Given the description of an element on the screen output the (x, y) to click on. 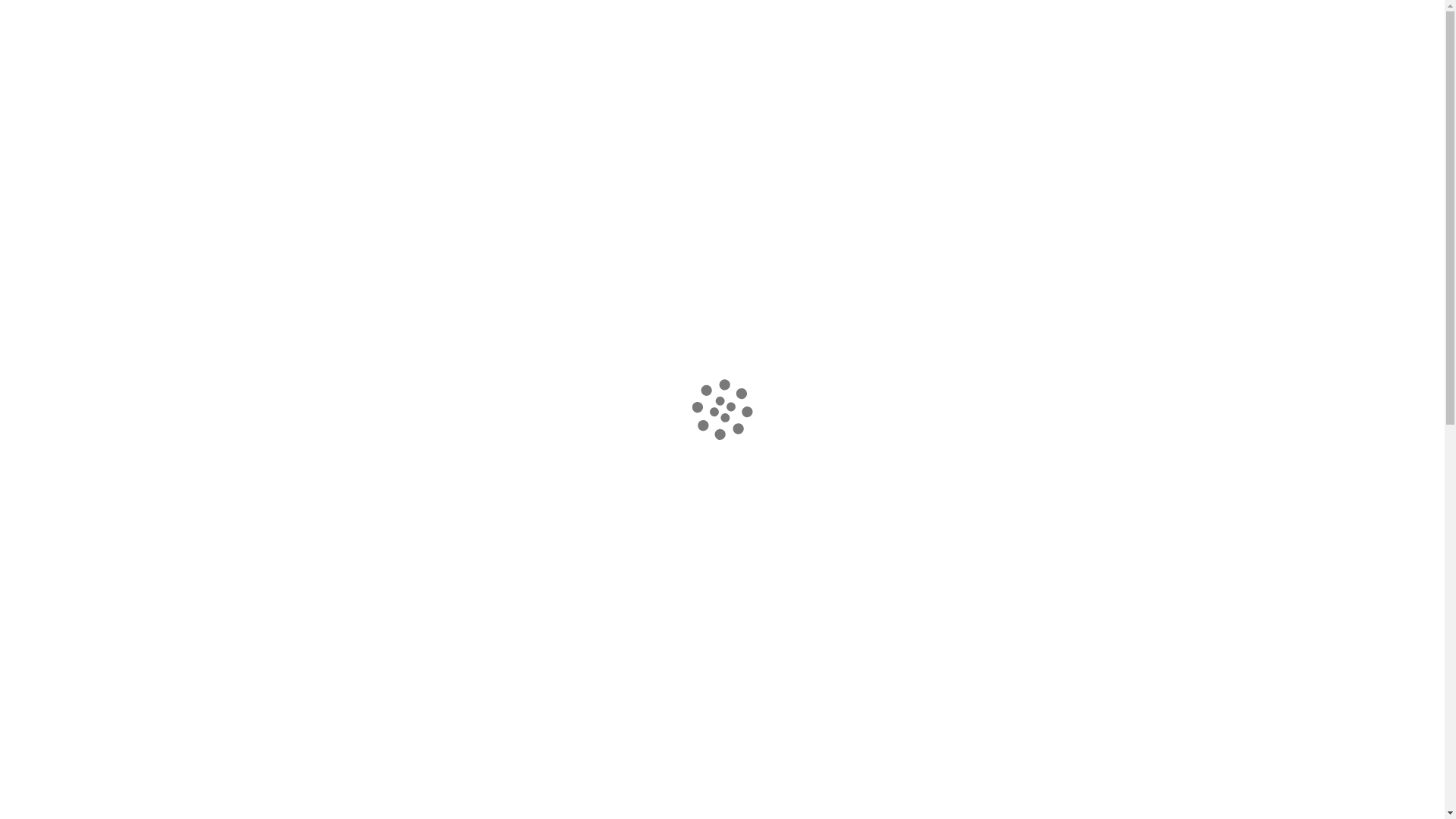
HOME Element type: text (578, 46)
CONTACT Element type: text (1116, 46)
+32 474 738 037 Element type: text (534, 18)
Meer info Element type: text (320, 795)
OK Element type: text (1369, 786)
BLOG Element type: text (1055, 46)
OVER C&B Element type: text (928, 46)
AGENDA Element type: text (998, 46)
info@checked-balanced.be Element type: text (377, 18)
TOP Element type: text (1417, 724)
C&B AMBASSADEURS Element type: text (826, 46)
